Given the description of an element on the screen output the (x, y) to click on. 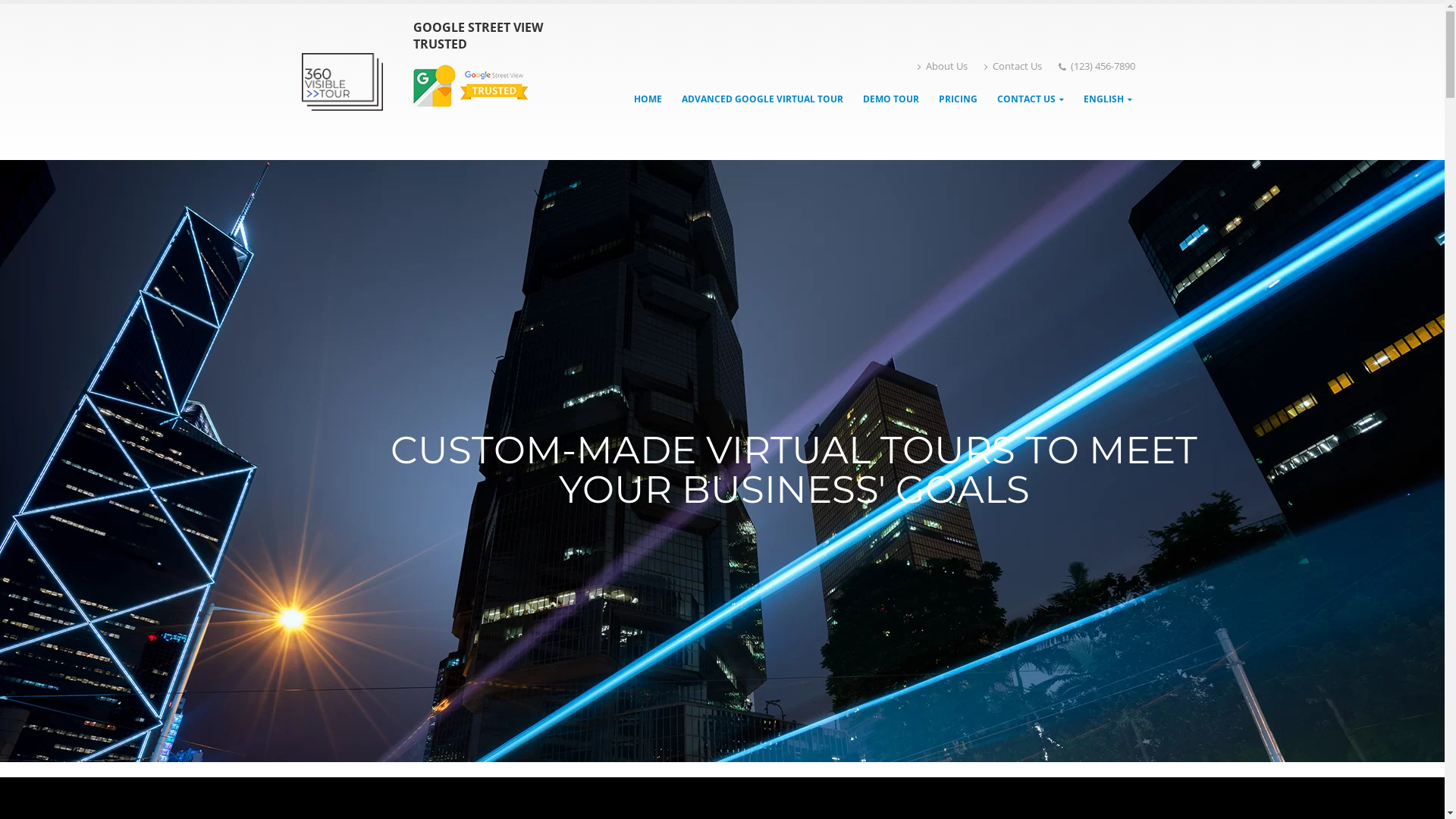
DEMO TOUR Element type: text (890, 98)
HOME Element type: text (647, 98)
ENGLISH Element type: text (1107, 98)
ADVANCED GOOGLE VIRTUAL TOUR Element type: text (762, 98)
About Us Element type: text (942, 66)
360 Visible Tour - Google Street View Trusted Element type: hover (342, 82)
Contact Us Element type: text (1012, 66)
CONTACT US Element type: text (1030, 98)
PRICING Element type: text (957, 98)
